Given the description of an element on the screen output the (x, y) to click on. 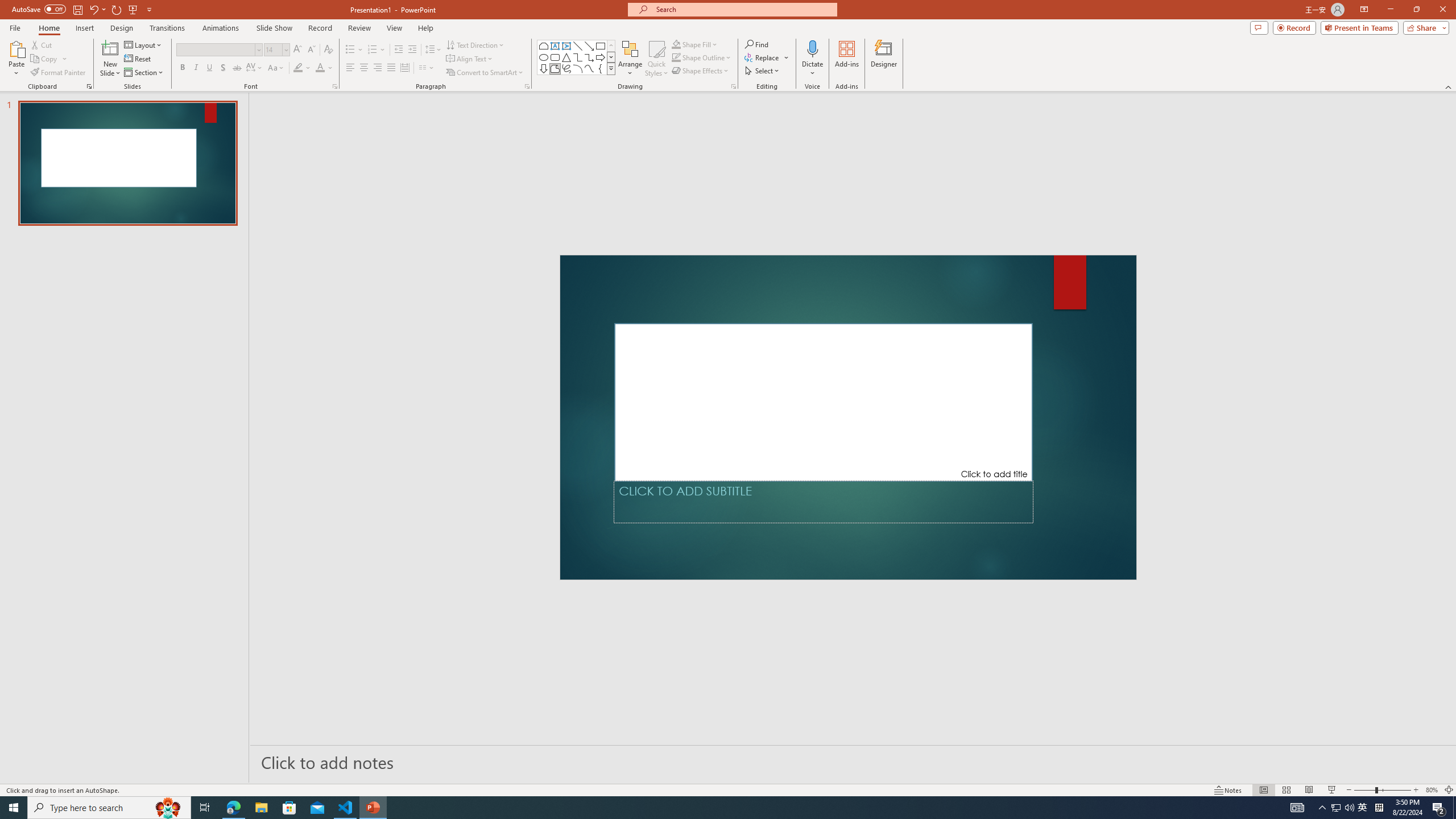
Find... (756, 44)
Oval (543, 57)
Freeform: Scribble (566, 68)
Left Brace (600, 68)
Distributed (404, 67)
Decrease Indent (398, 49)
Columns (426, 67)
Italic (195, 67)
Rectangle: Top Corners Snipped (543, 45)
